Given the description of an element on the screen output the (x, y) to click on. 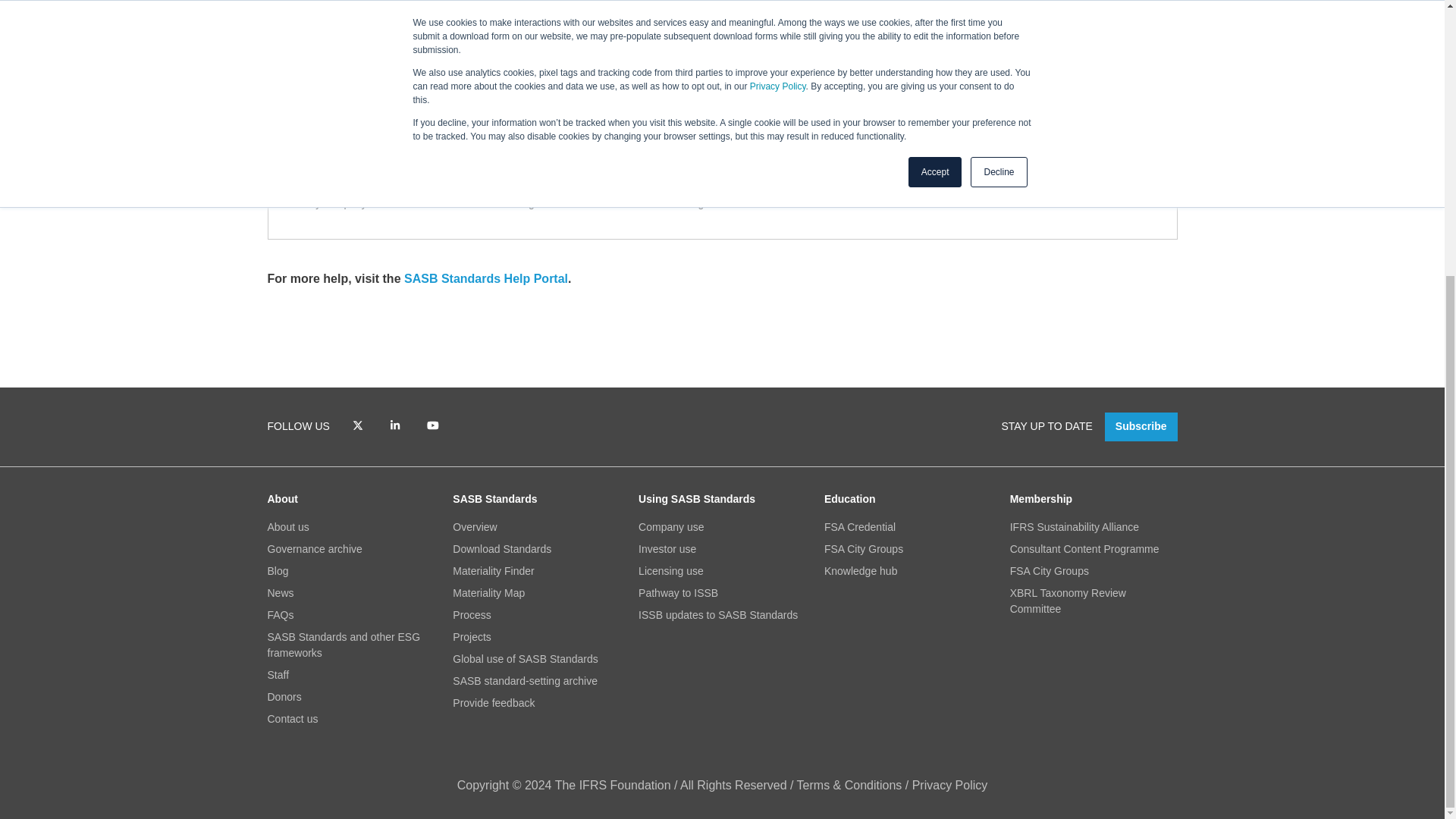
SASB Standards Help Portal (485, 278)
Follow us on YouTube (432, 426)
Follow us on LinkedIn (395, 426)
Subscribe (1141, 427)
